Given the description of an element on the screen output the (x, y) to click on. 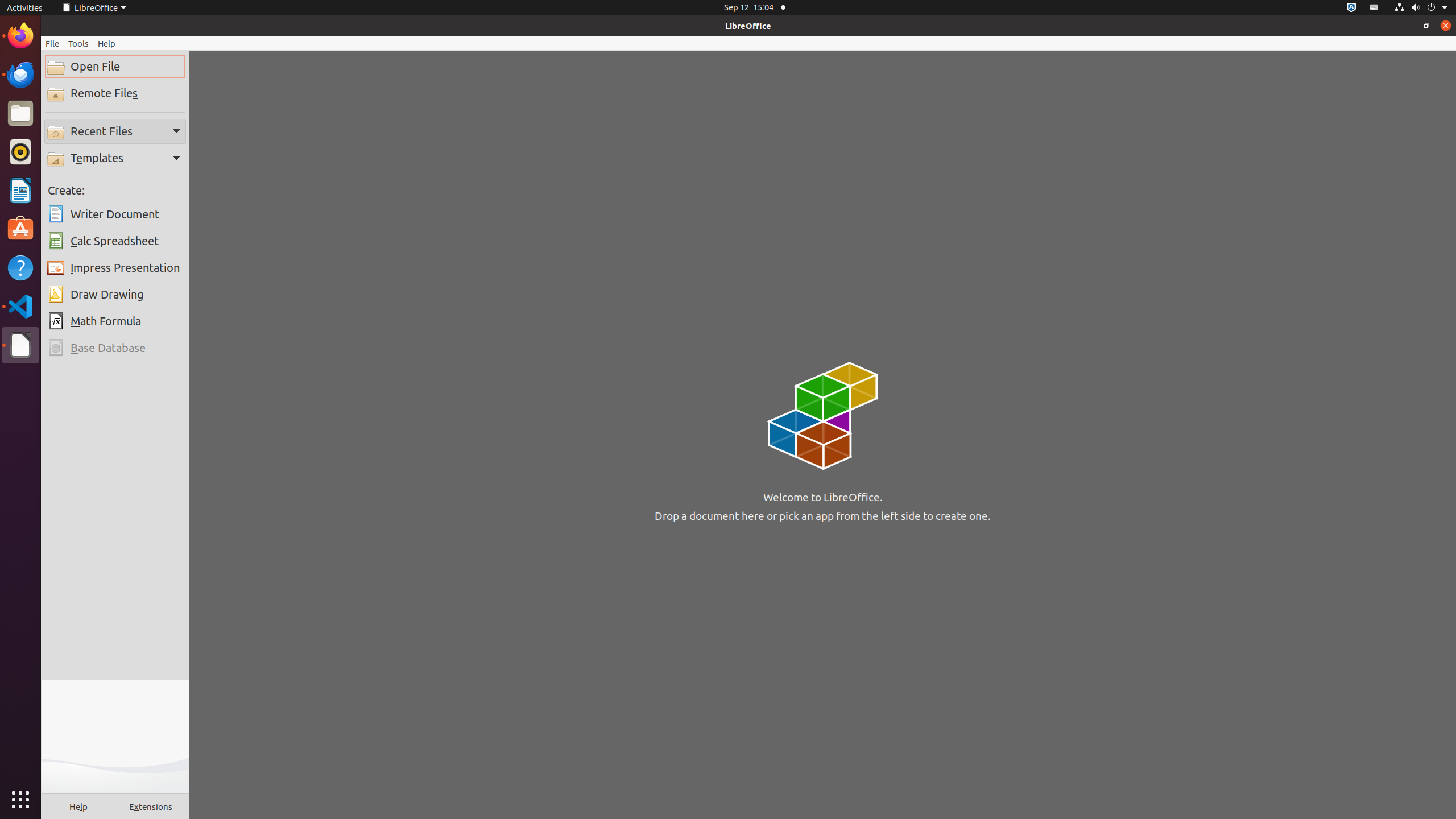
File Element type: menu (51, 43)
Open File Element type: push-button (114, 66)
